Given the description of an element on the screen output the (x, y) to click on. 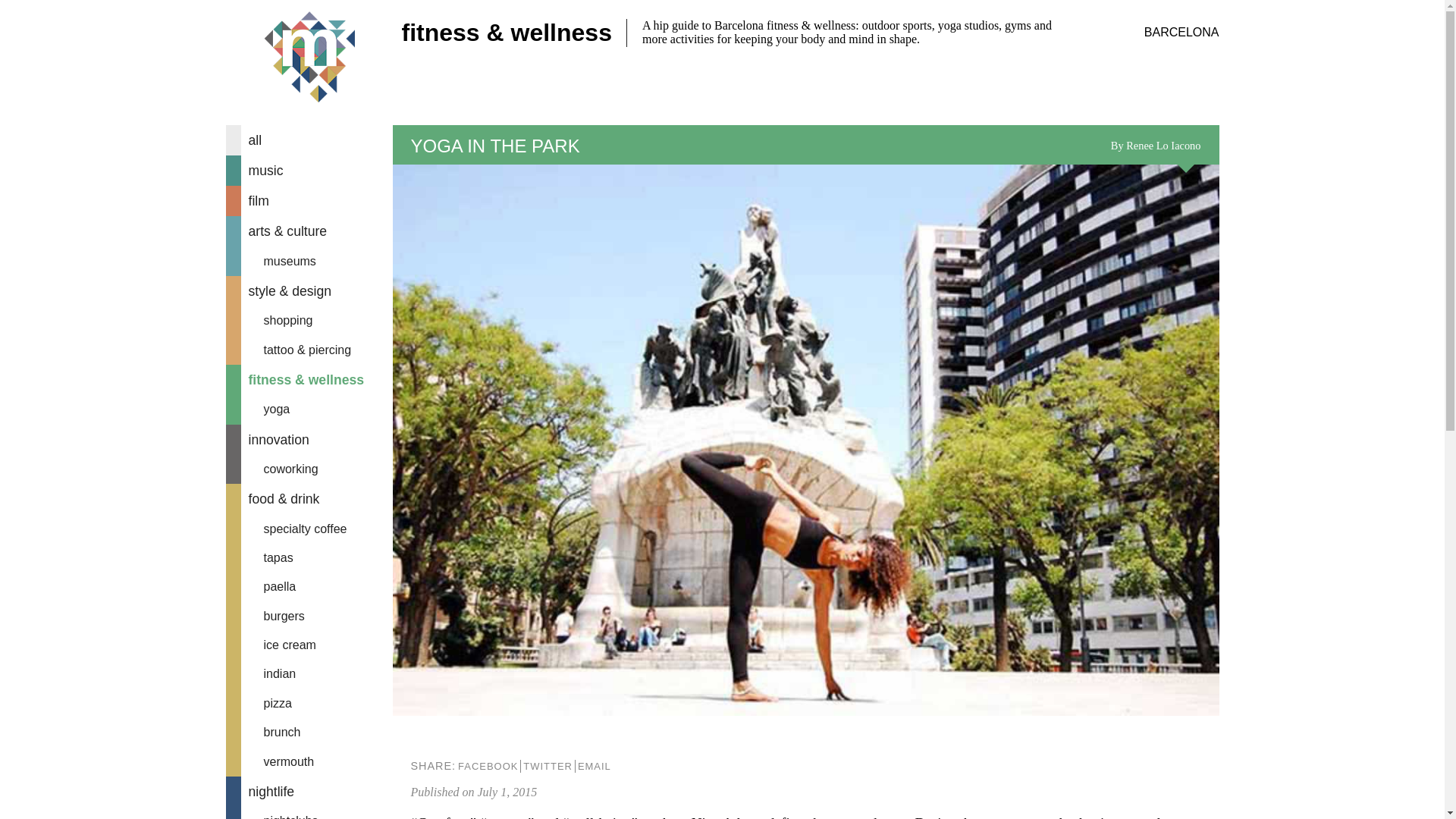
film (309, 200)
nightlife (309, 791)
burgers (309, 615)
vermouth (309, 761)
music (309, 170)
yoga (309, 409)
Miniguide (309, 58)
paella (309, 586)
coworking (309, 469)
brunch (309, 732)
shopping (309, 320)
indian (309, 674)
EMAIL (593, 766)
pizza (309, 703)
FACEBOOK (487, 766)
